Given the description of an element on the screen output the (x, y) to click on. 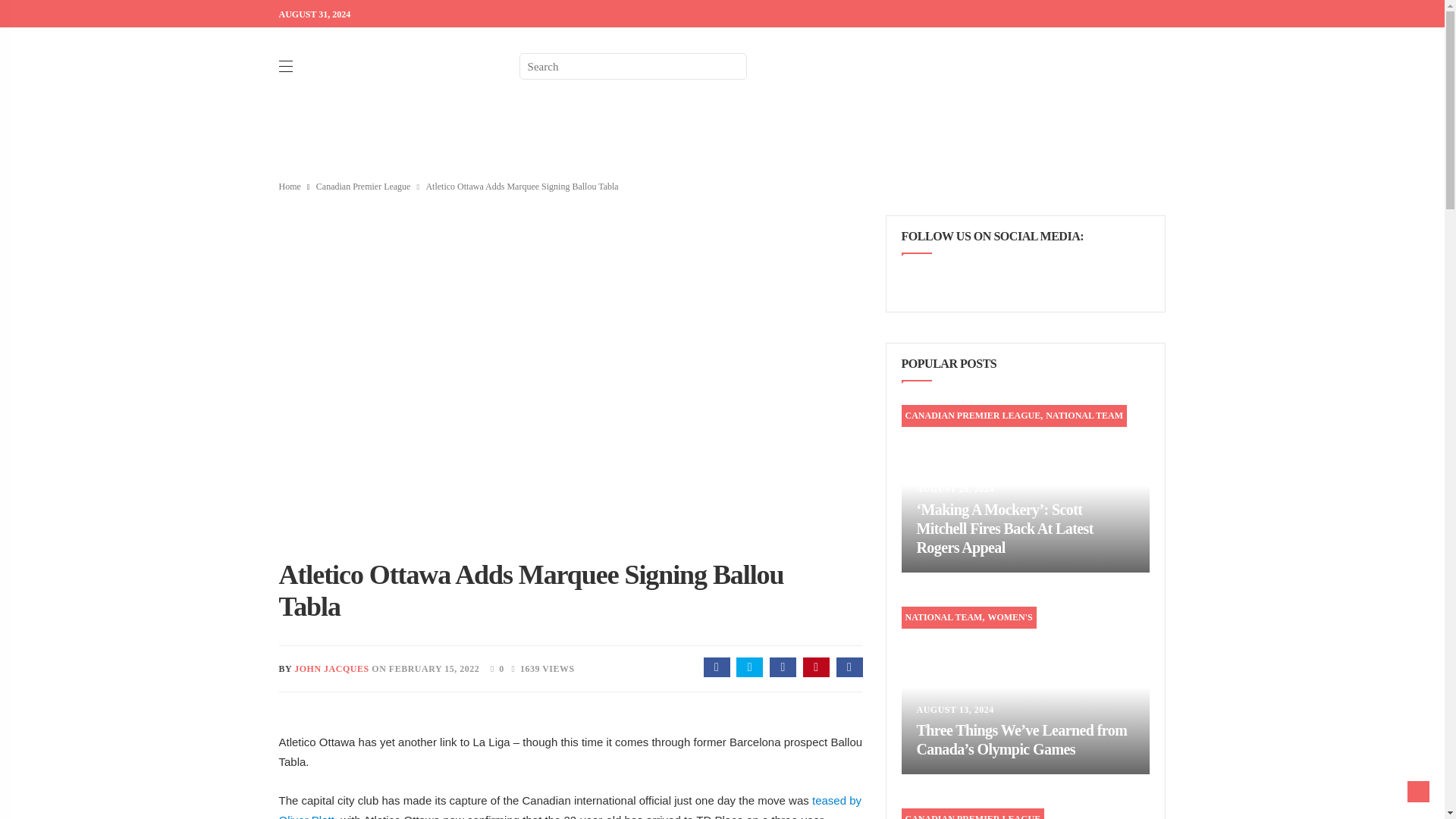
Canadian Premier League (362, 185)
Home (290, 185)
0 (492, 667)
teased by Oliver Platt (570, 806)
Home (290, 185)
JOHN JACQUES (331, 668)
